Given the description of an element on the screen output the (x, y) to click on. 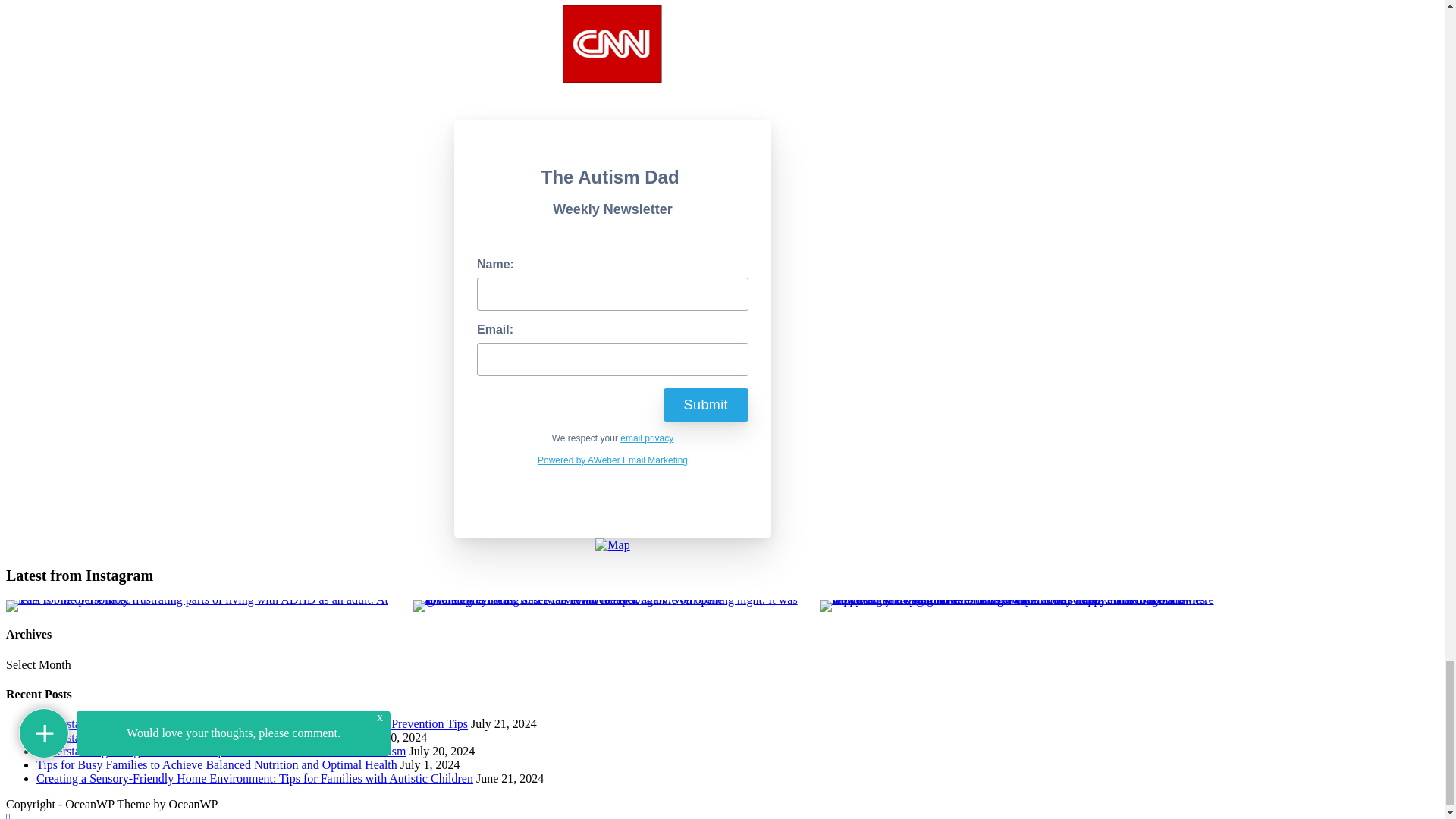
Submit (705, 404)
